Given the description of an element on the screen output the (x, y) to click on. 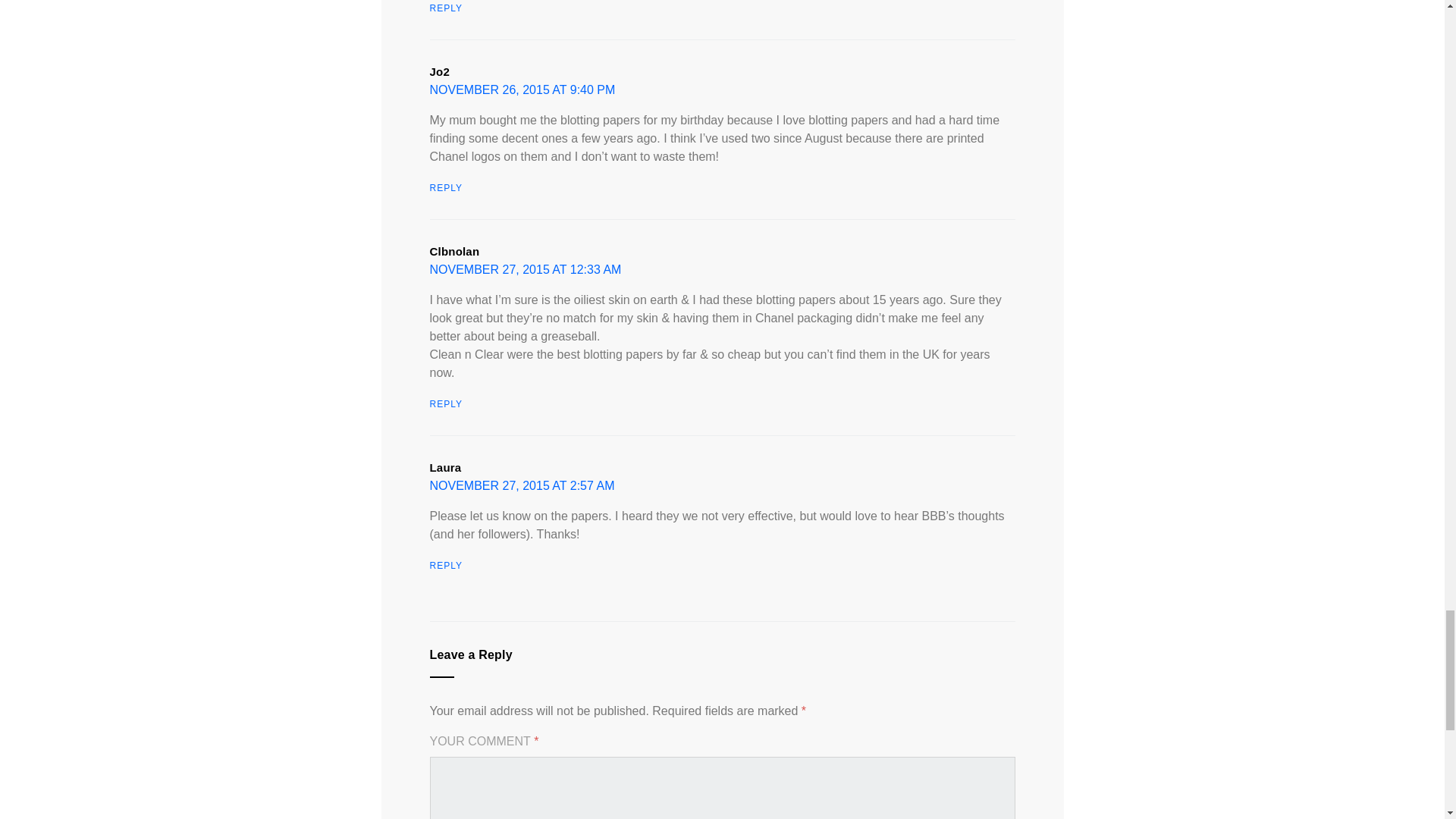
REPLY (445, 8)
NOVEMBER 26, 2015 AT 9:40 PM (521, 89)
